Given the description of an element on the screen output the (x, y) to click on. 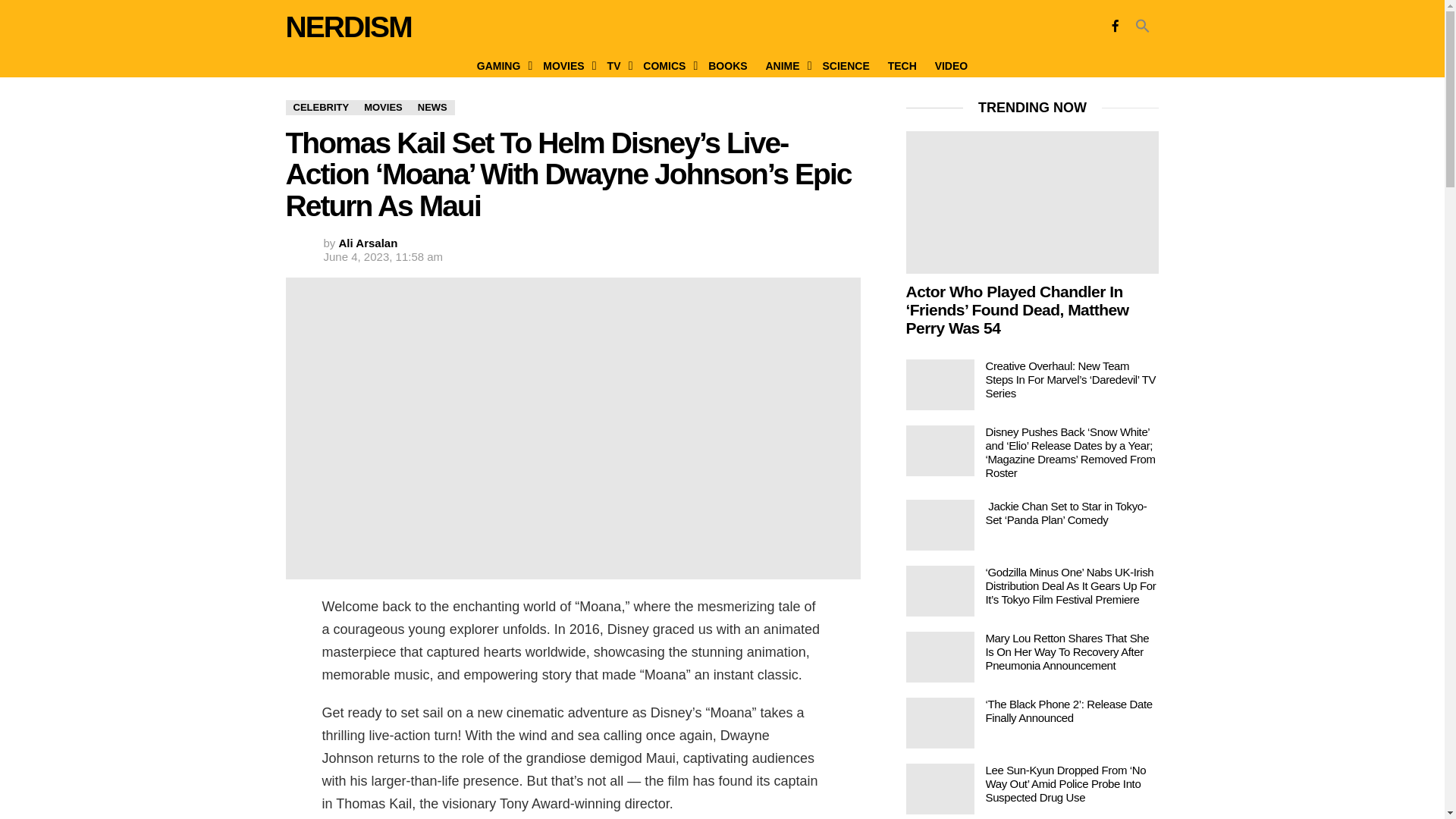
Posts by Ali Arsalan (368, 242)
NERDISM (347, 26)
COMICS (665, 65)
VIDEO (951, 65)
MOVIES (383, 107)
SCIENCE (844, 65)
NEWS (432, 107)
MOVIES (565, 65)
CELEBRITY (320, 107)
